Given the description of an element on the screen output the (x, y) to click on. 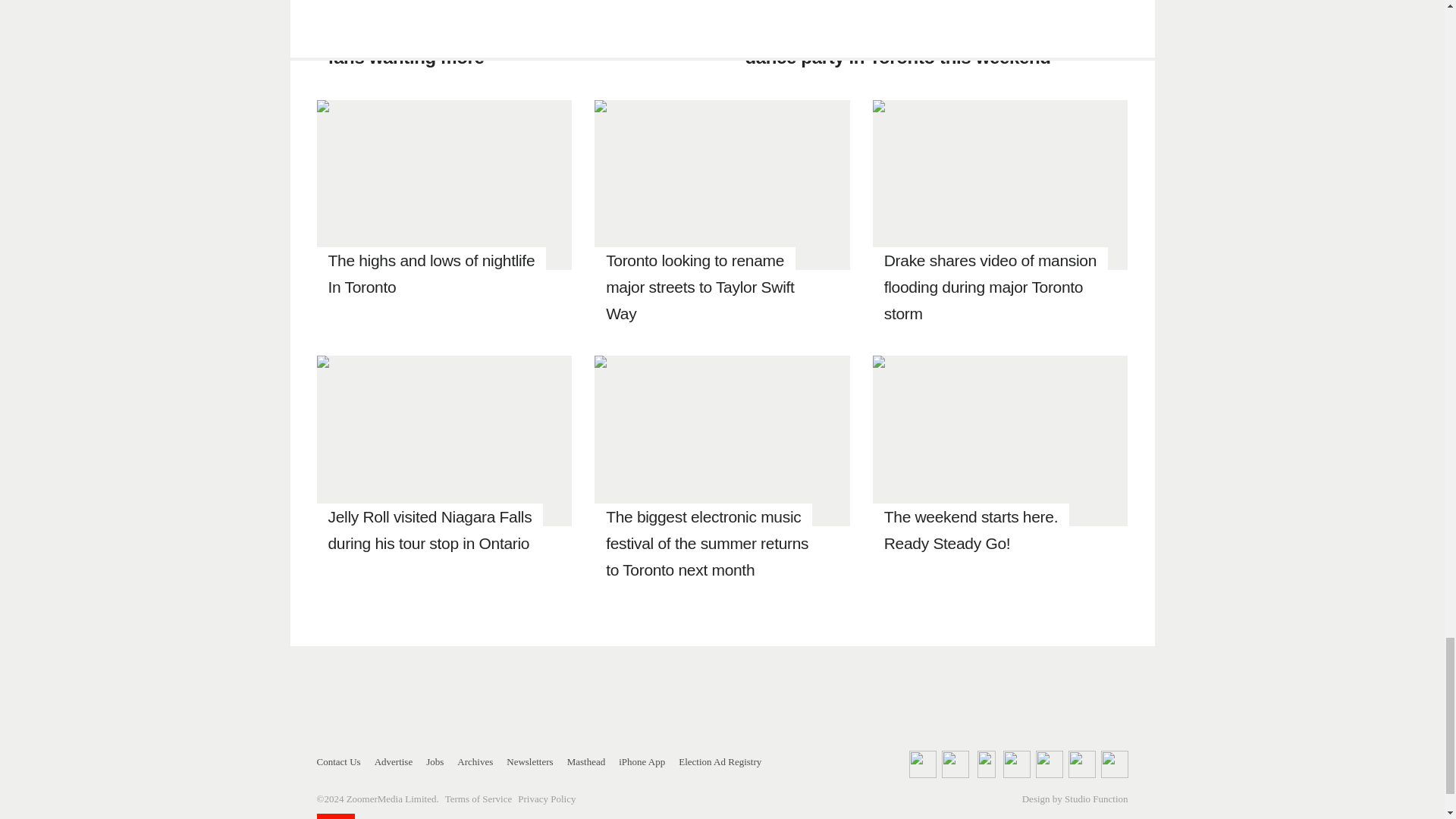
Contact Us (339, 761)
